Given the description of an element on the screen output the (x, y) to click on. 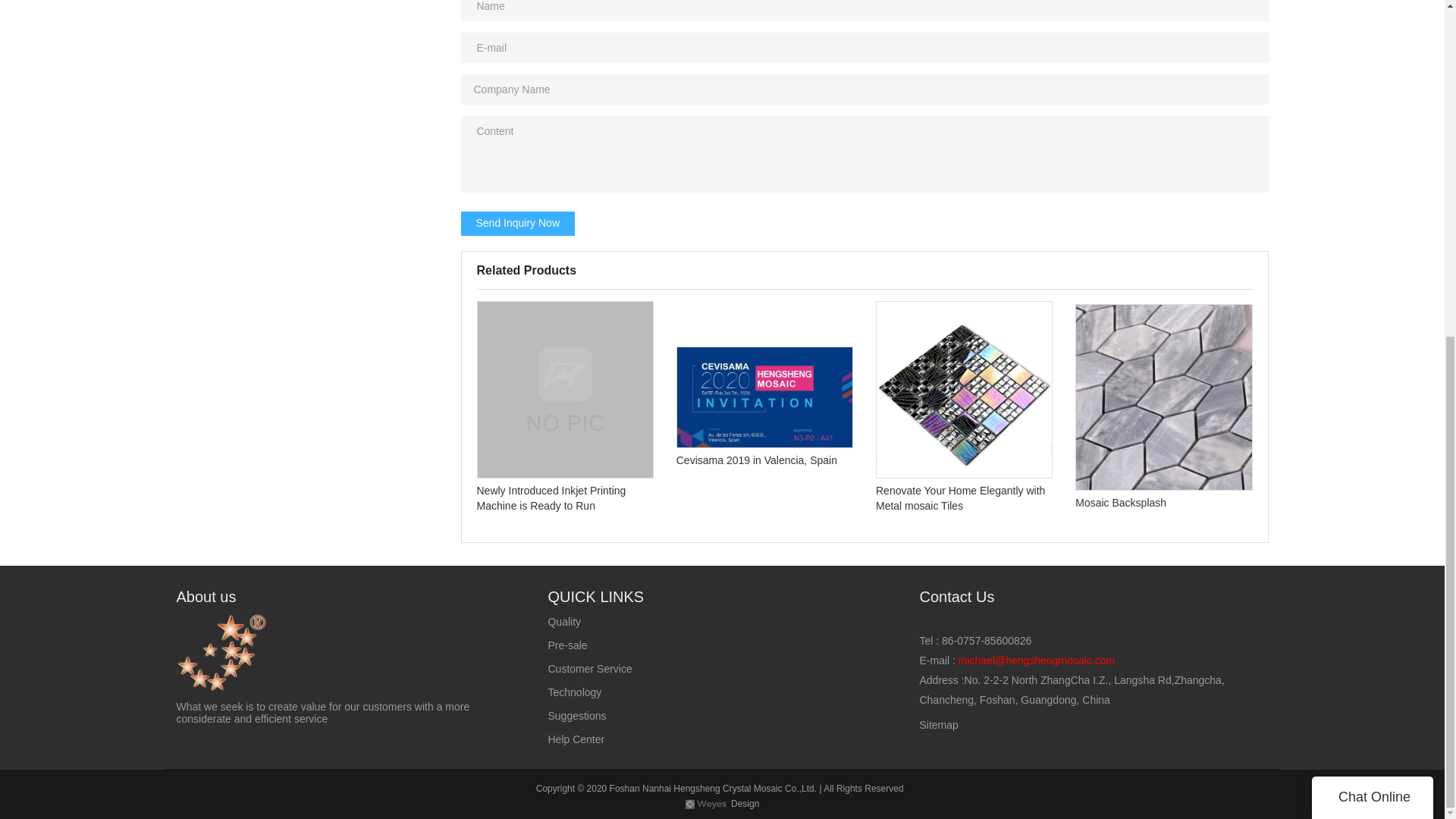
Cevisama 2019 in Valencia, Spain (765, 410)
Send Inquiry Now (518, 223)
